Given the description of an element on the screen output the (x, y) to click on. 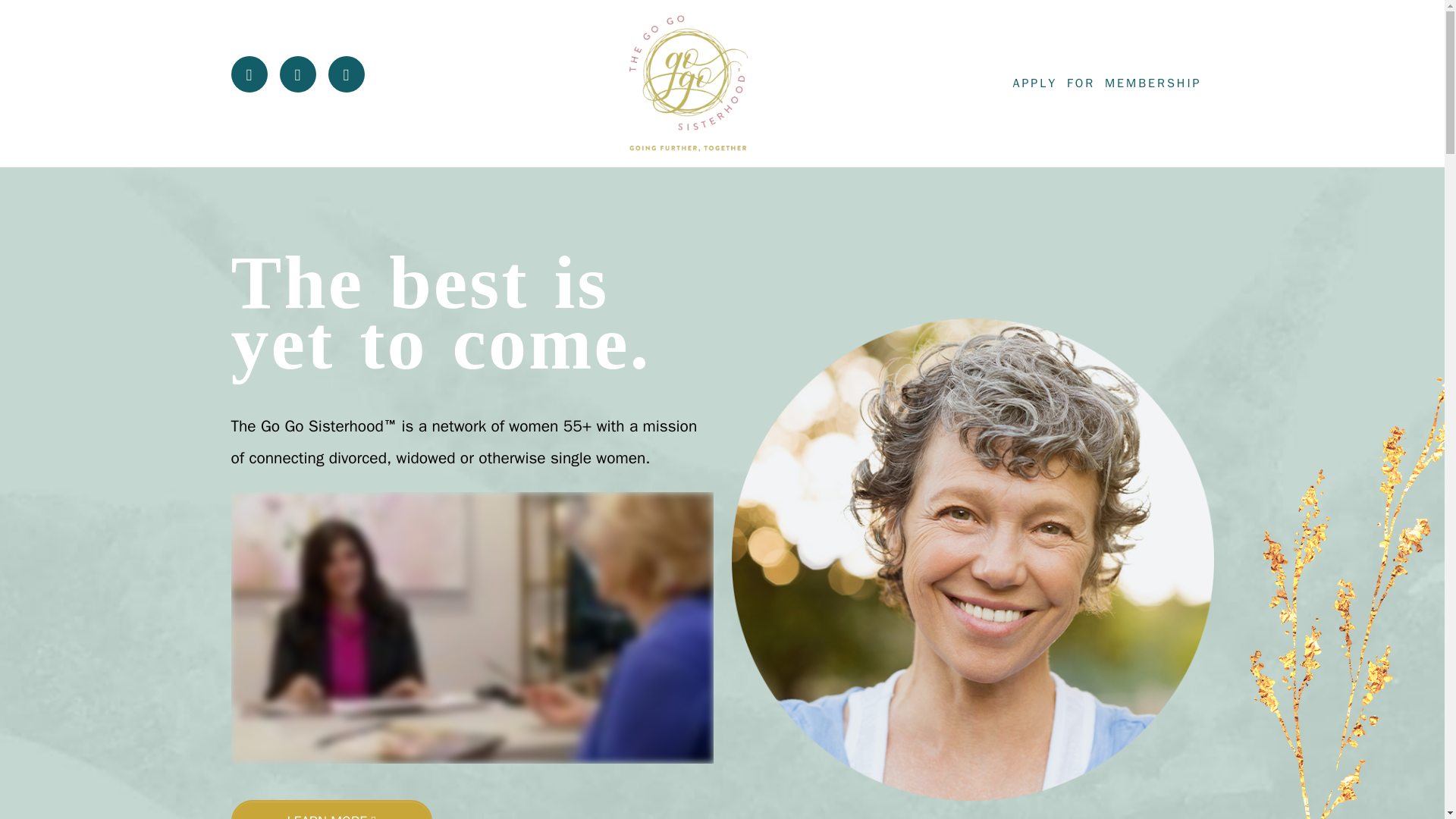
Wistia video player (471, 627)
LEARN MORE (331, 809)
APPLY FOR MEMBERSHIP (1106, 83)
